Given the description of an element on the screen output the (x, y) to click on. 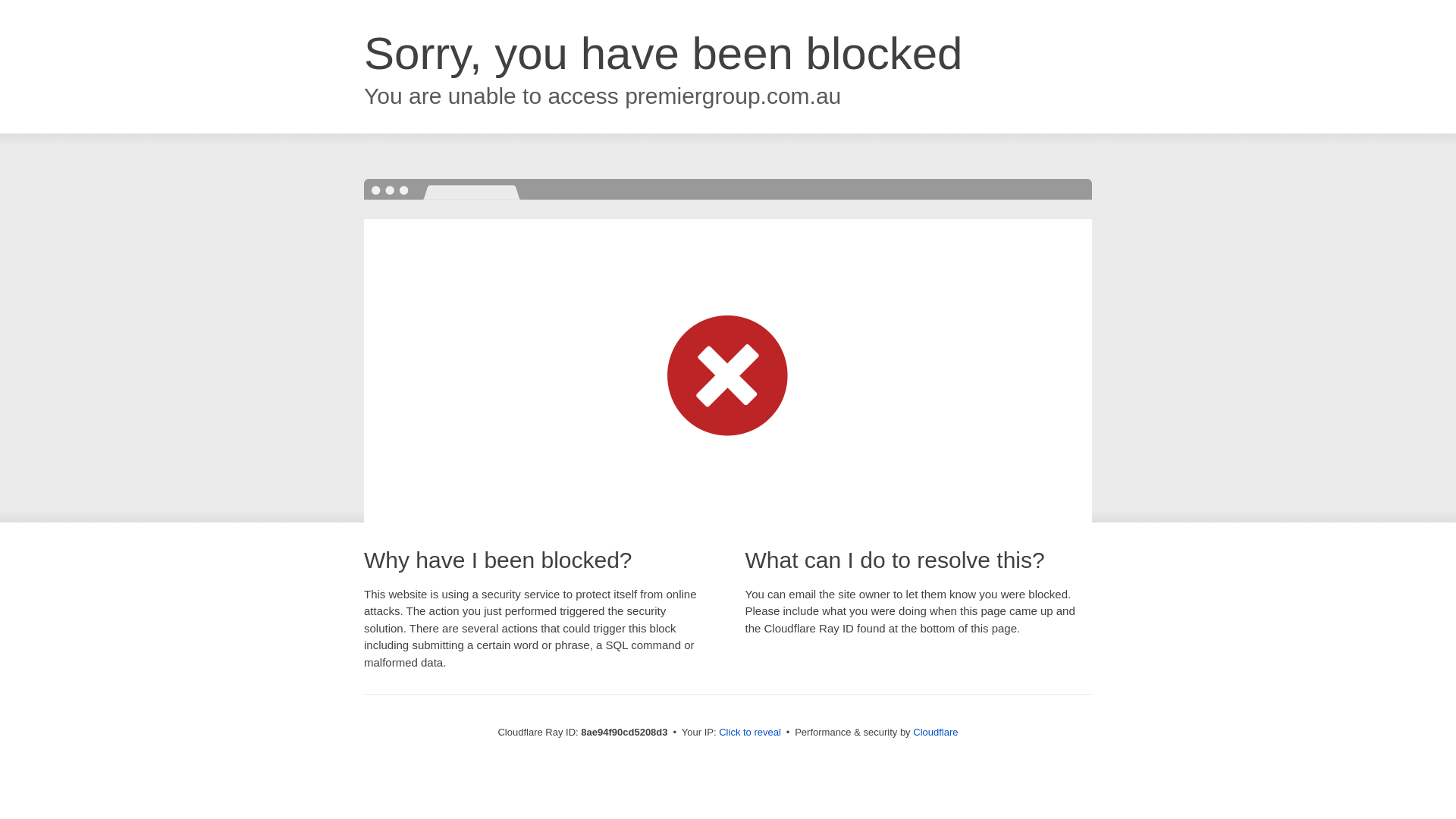
Click to reveal (749, 732)
Cloudflare (935, 731)
